Given the description of an element on the screen output the (x, y) to click on. 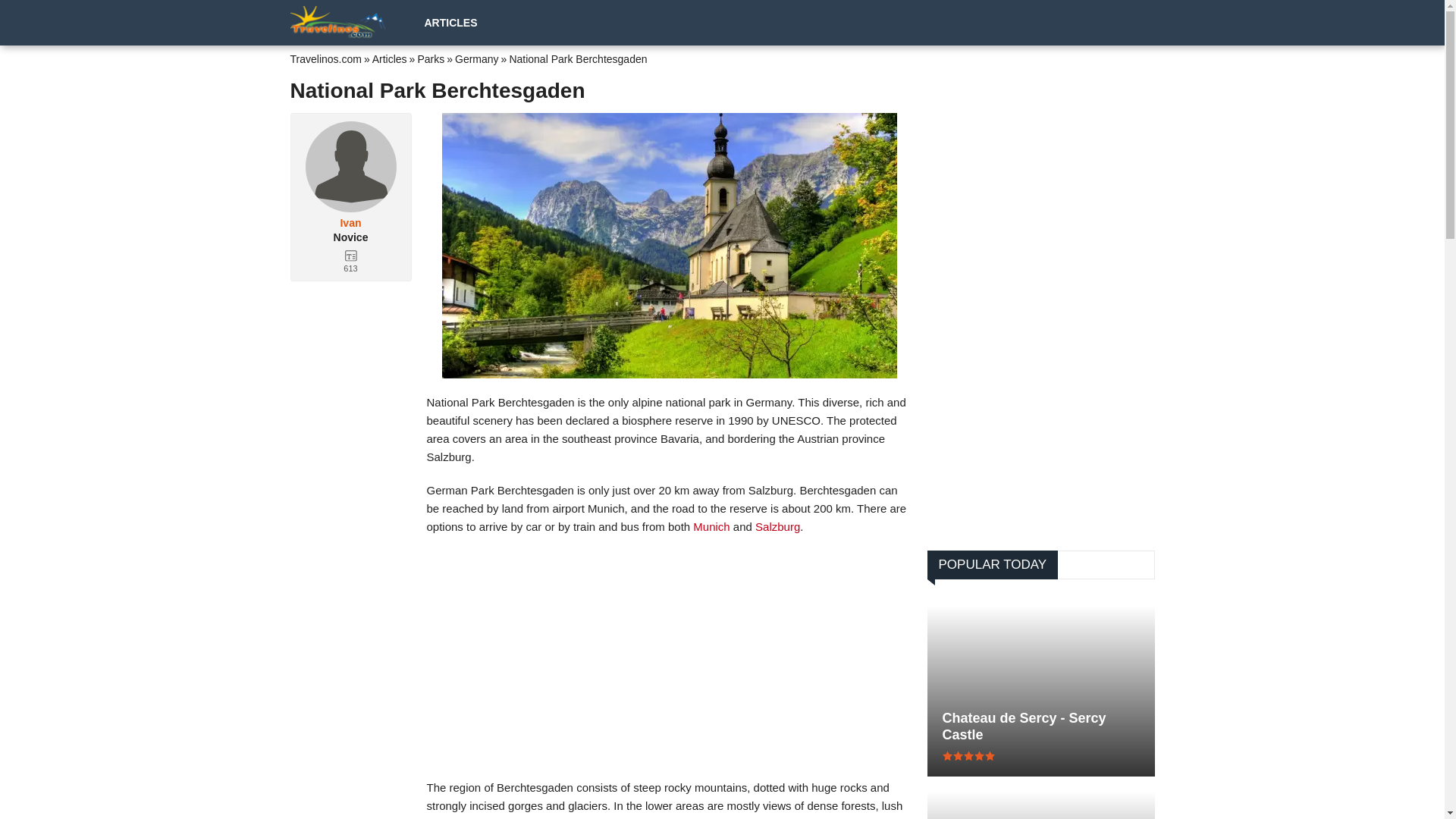
Travelinos.com (325, 59)
Salzburg (777, 526)
Parks (430, 59)
Articles (389, 59)
Chateau de Sercy - Sercy Castle (1040, 726)
Germany (476, 59)
Munich (711, 526)
Ivan (350, 222)
Chateau de Sercy - Sercy Castle (1040, 726)
ARTICLES (450, 22)
travelinos.com (339, 22)
